Given the description of an element on the screen output the (x, y) to click on. 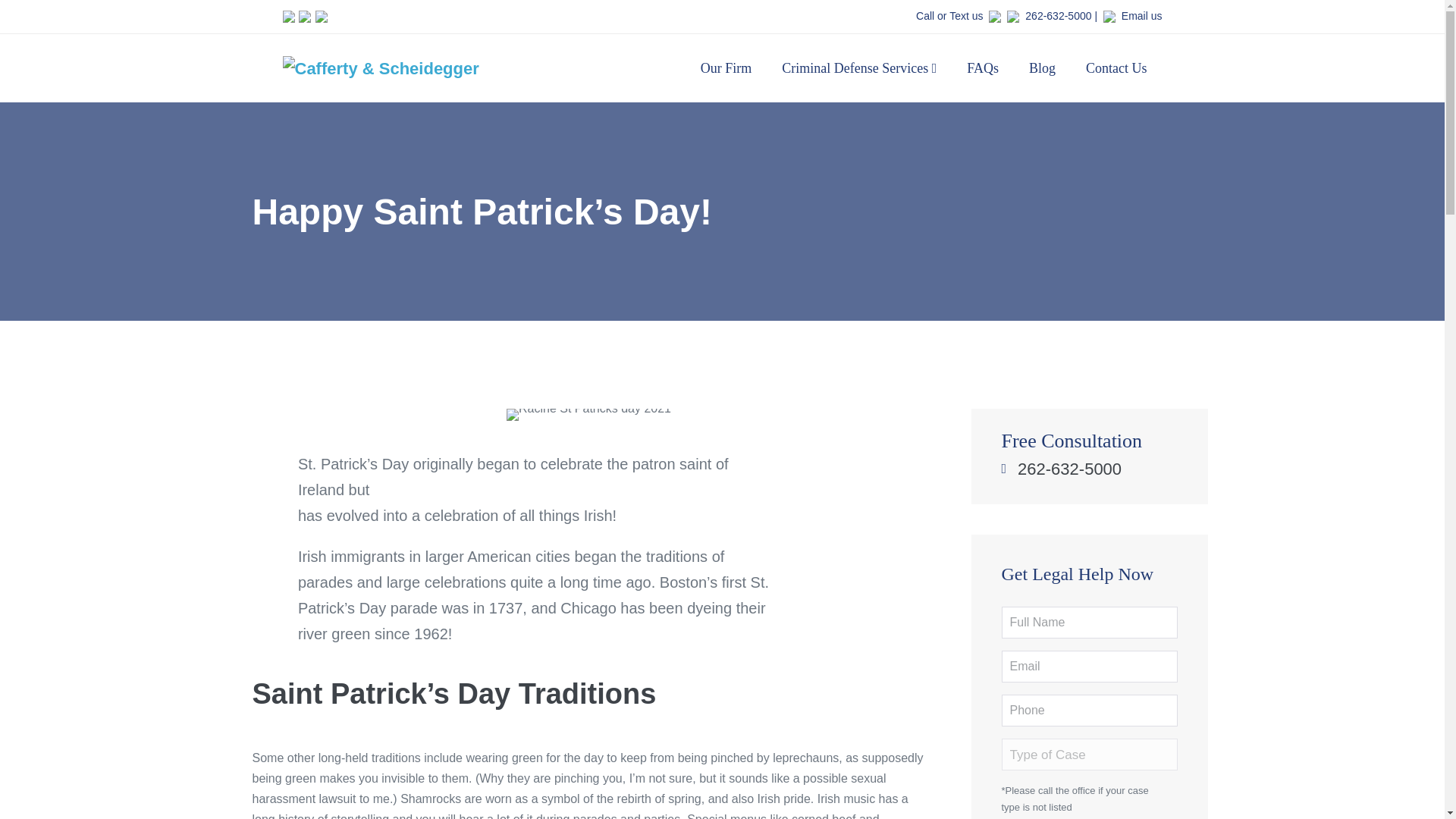
Criminal Defense Services (859, 68)
Racine St Patricks day 2021 (588, 414)
Email us (1141, 15)
Blog (1041, 68)
262-632-5000 (1057, 15)
Our Firm (726, 68)
Contact Us (1115, 68)
FAQs (982, 68)
